Given the description of an element on the screen output the (x, y) to click on. 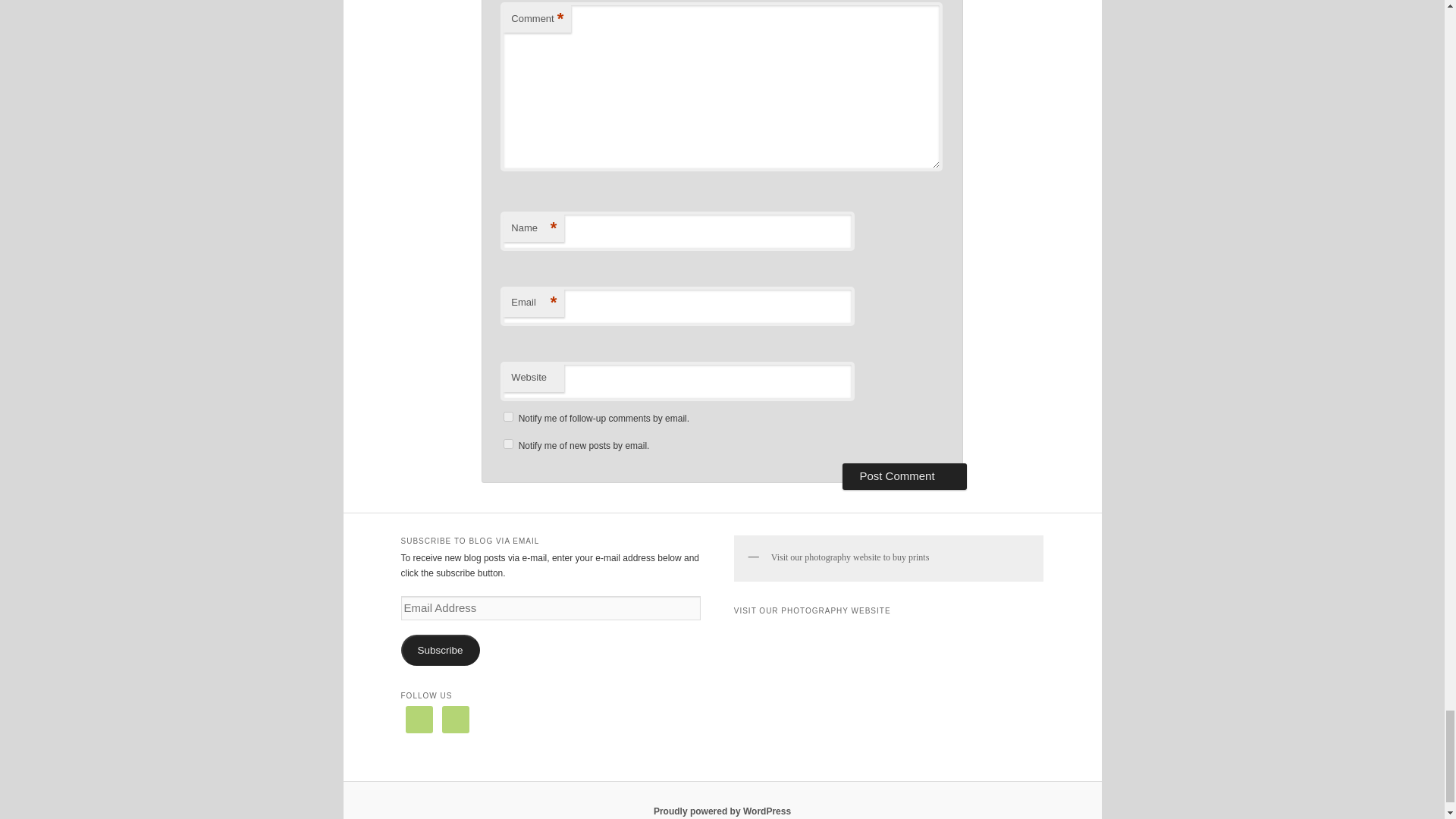
Post Comment (904, 475)
subscribe (508, 415)
subscribe (508, 443)
